Given the description of an element on the screen output the (x, y) to click on. 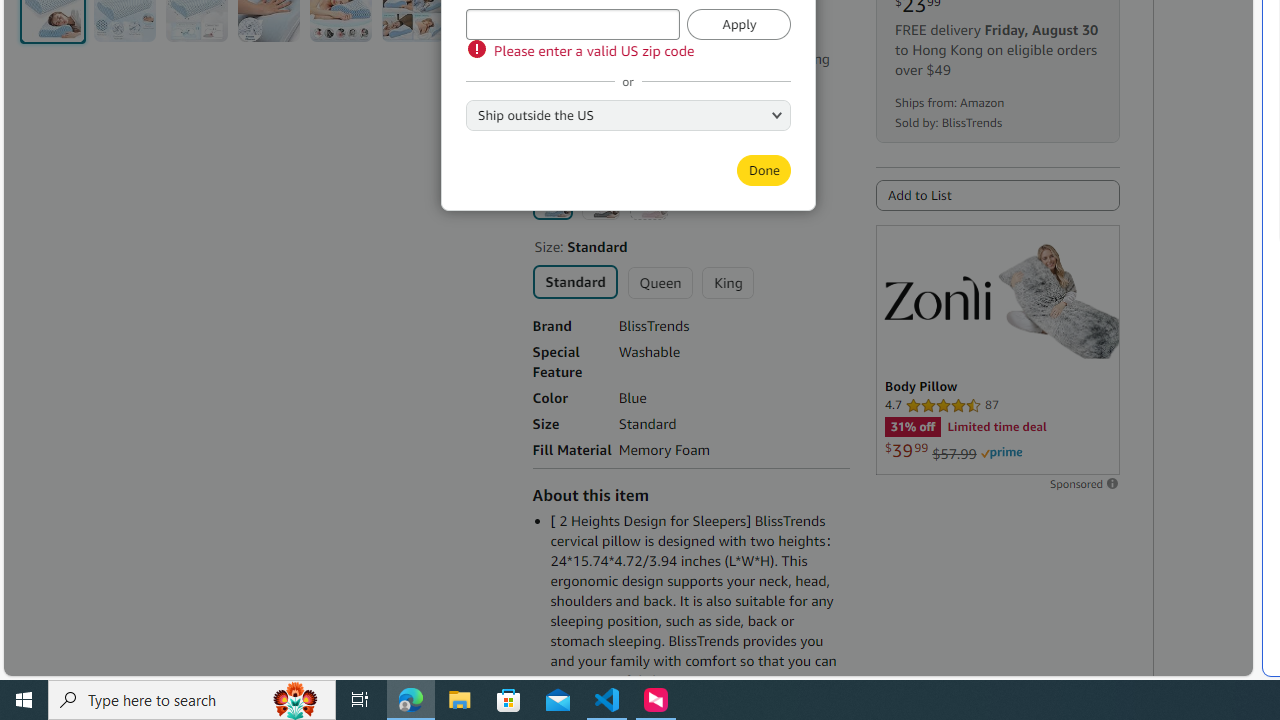
King (727, 282)
Details  (601, 79)
Blue (551, 199)
or enter a US zip code (572, 24)
Terms (658, 125)
Learn more about Amazon pricing and savings (634, 32)
Apply (739, 24)
Queen (660, 282)
Done (763, 170)
AutomationID: GLUXCountryList (628, 114)
Grey (600, 200)
Pink (647, 200)
Blue (551, 199)
Logo (937, 297)
